Given the description of an element on the screen output the (x, y) to click on. 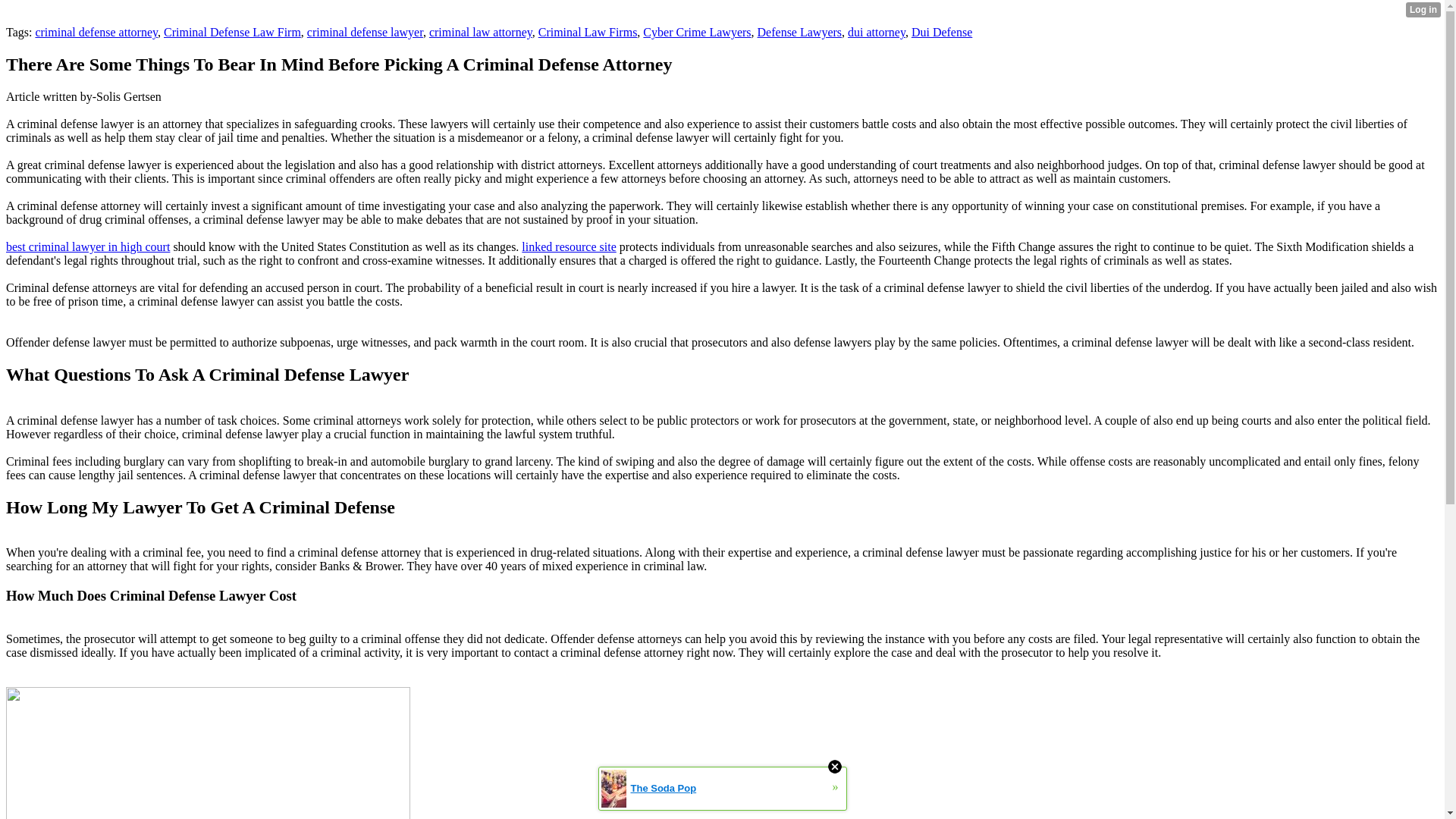
Defense Lawyers (800, 31)
Criminal Law Firms (587, 31)
criminal defense attorney (95, 31)
criminal law attorney (480, 31)
Criminal Defense Law Firm (232, 31)
Dui Defense (941, 31)
dui attorney (876, 31)
linked resource site (568, 246)
Cyber Crime Lawyers (697, 31)
best criminal lawyer in high court (87, 246)
criminal defense lawyer (365, 31)
